Given the description of an element on the screen output the (x, y) to click on. 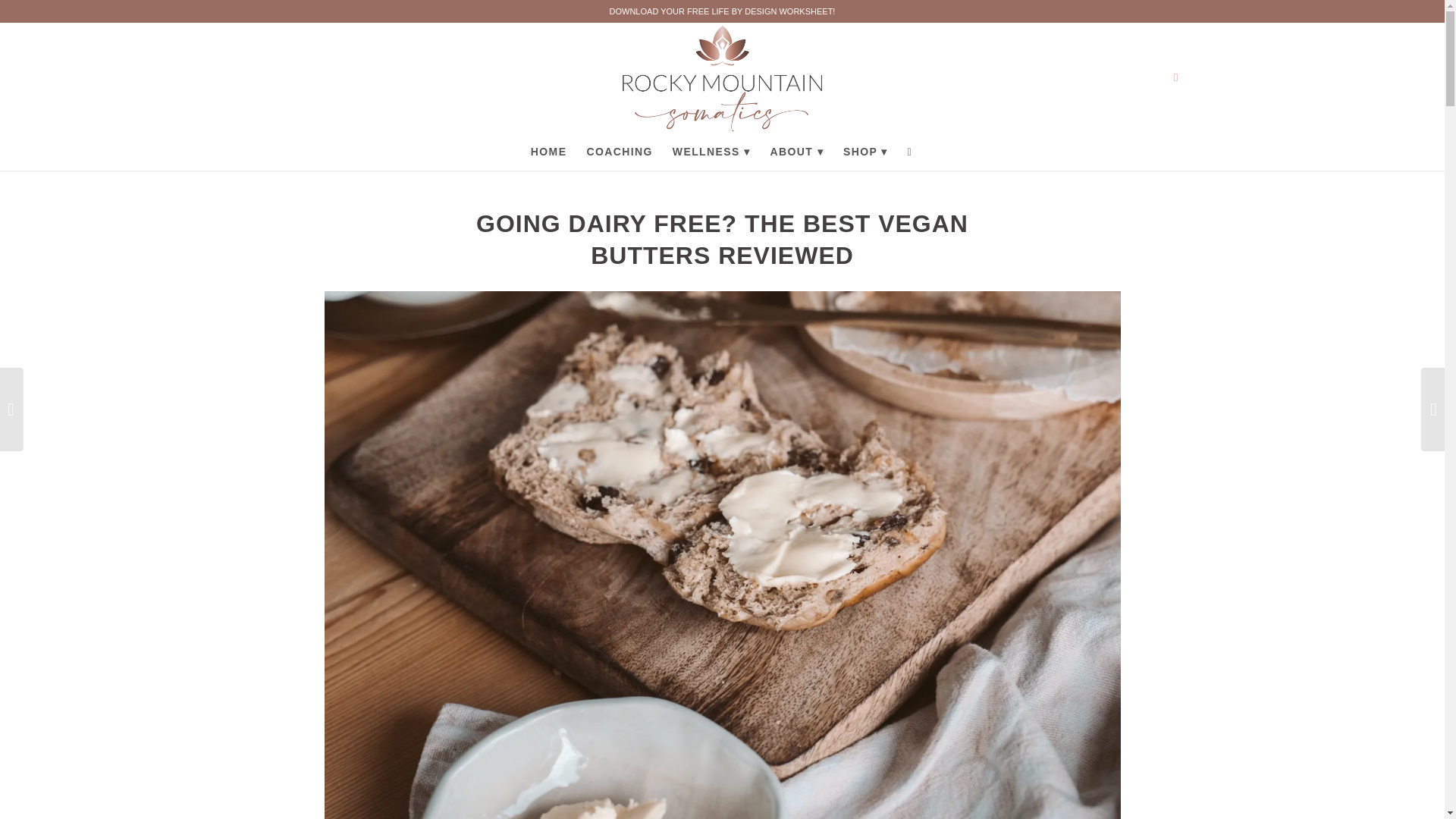
WELLNESS (711, 151)
ABOUT (796, 151)
FREE LIFE BY DESIGN (731, 10)
COACHING (619, 151)
SHOP (865, 151)
Rocky-mountain-somatics (722, 77)
HOME (548, 151)
